Given the description of an element on the screen output the (x, y) to click on. 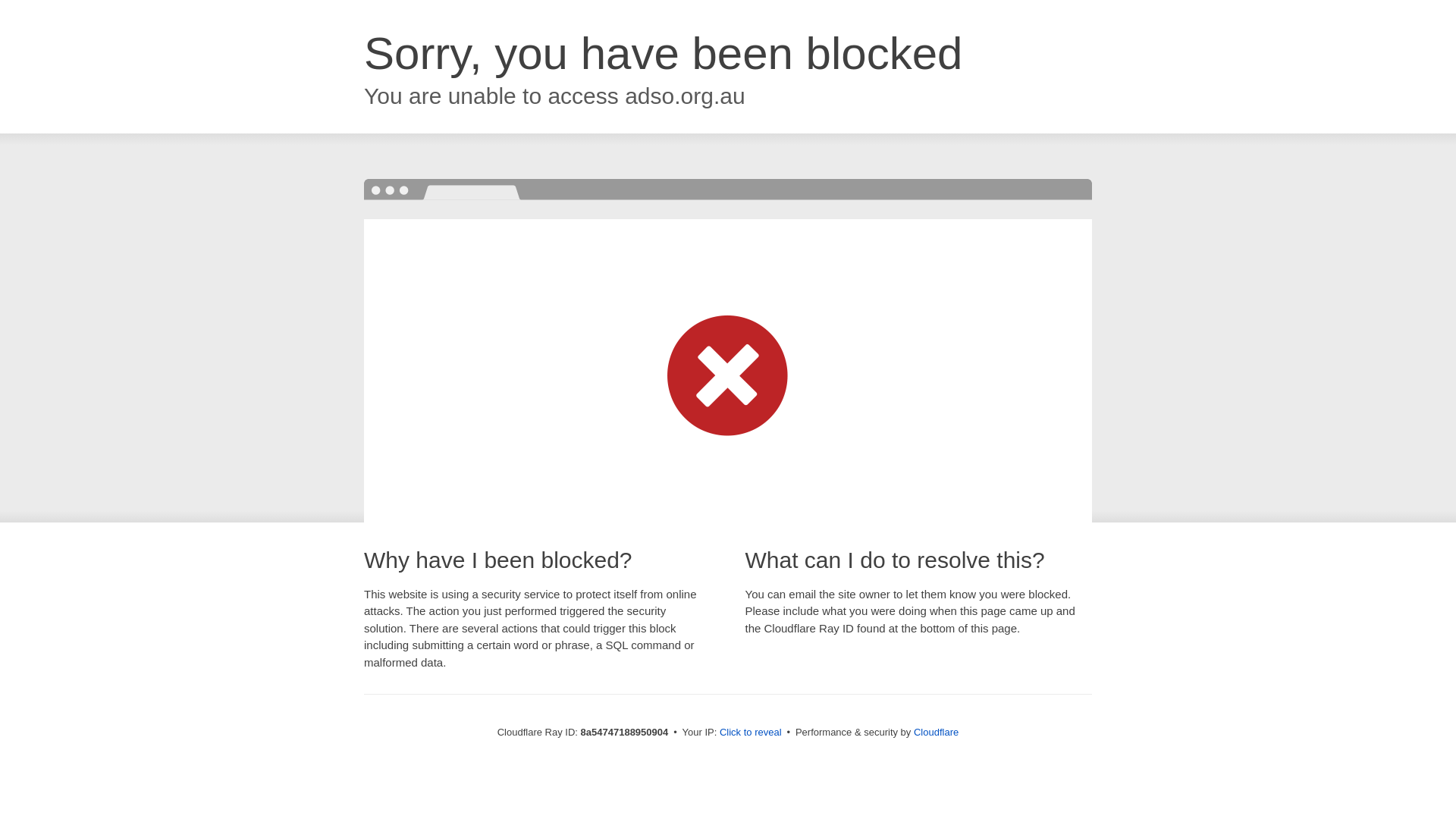
Cloudflare (936, 731)
Click to reveal (750, 732)
